Given the description of an element on the screen output the (x, y) to click on. 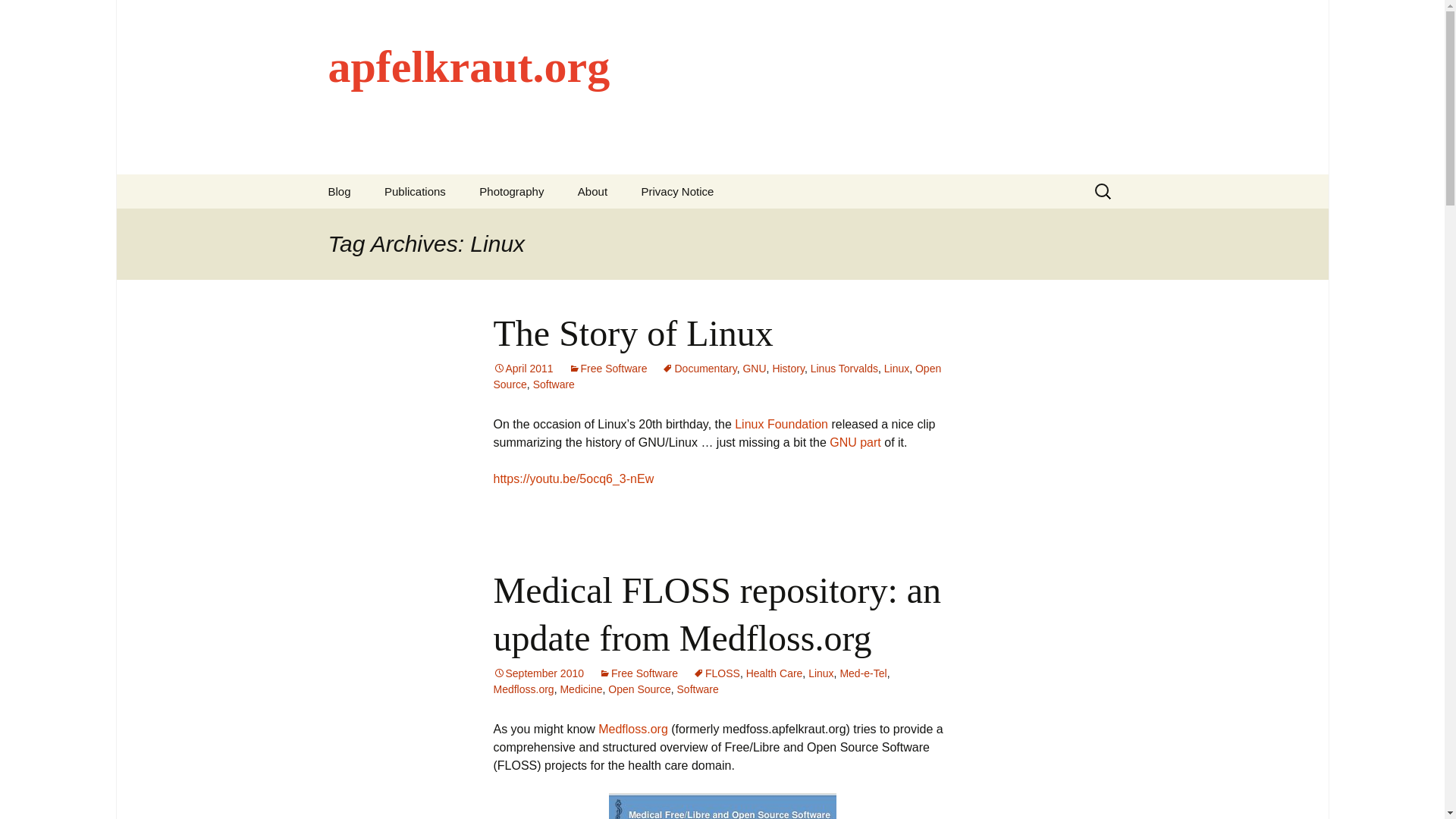
Medical FLOSS repository: an update from Medfloss.org (716, 613)
Privacy Notice (677, 191)
Linus Torvalds (843, 368)
Medfloss.org (633, 728)
Blog (339, 191)
Photography (511, 191)
Free Software (638, 673)
Linux Foundation (781, 423)
Med-e-Tel (863, 673)
The Story of Linux (633, 332)
Linux (895, 368)
FLOSS (716, 673)
GNU part (854, 441)
Medfloss.org (523, 689)
